Given the description of an element on the screen output the (x, y) to click on. 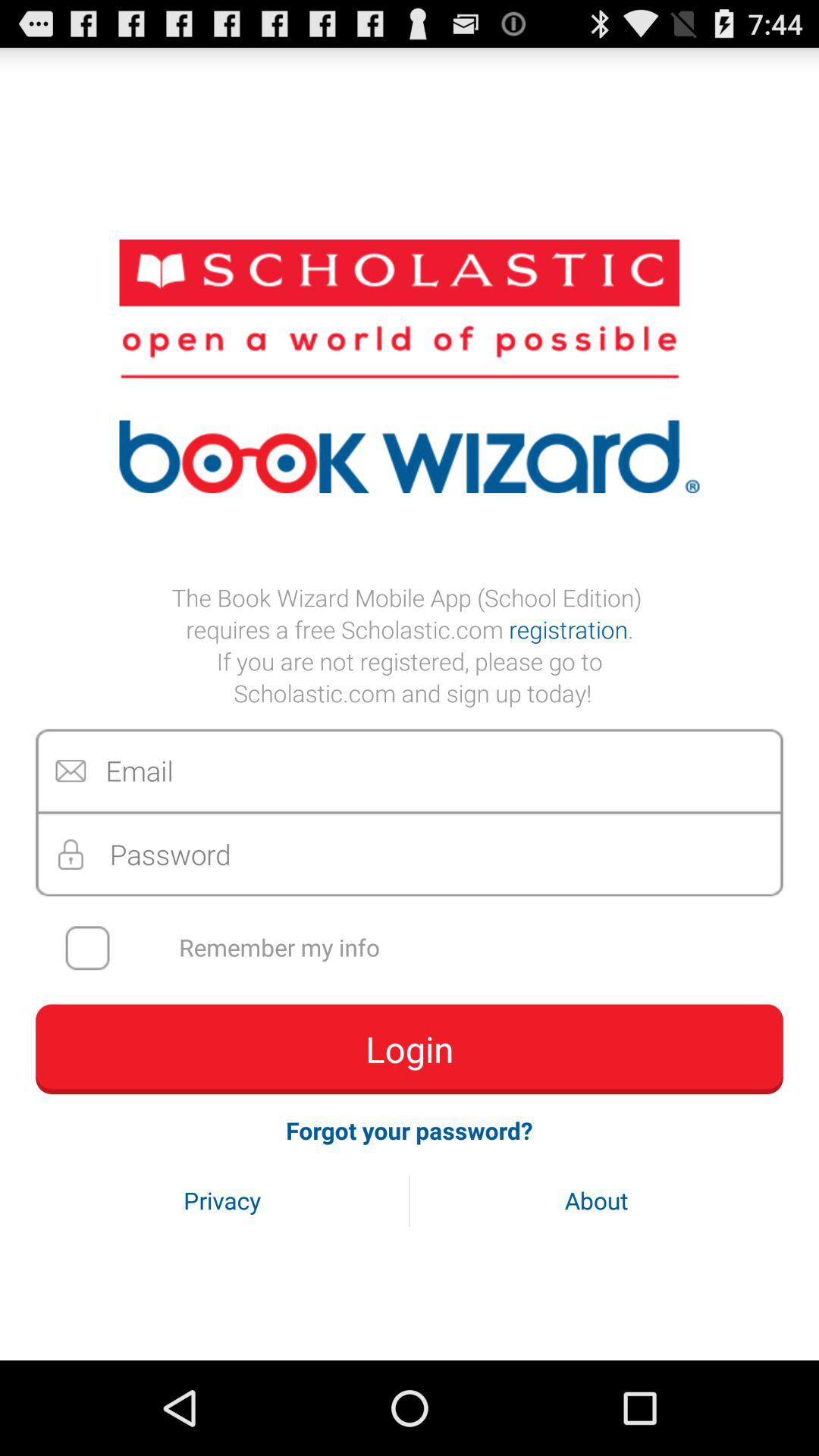
open the forgot your password? (409, 1130)
